Given the description of an element on the screen output the (x, y) to click on. 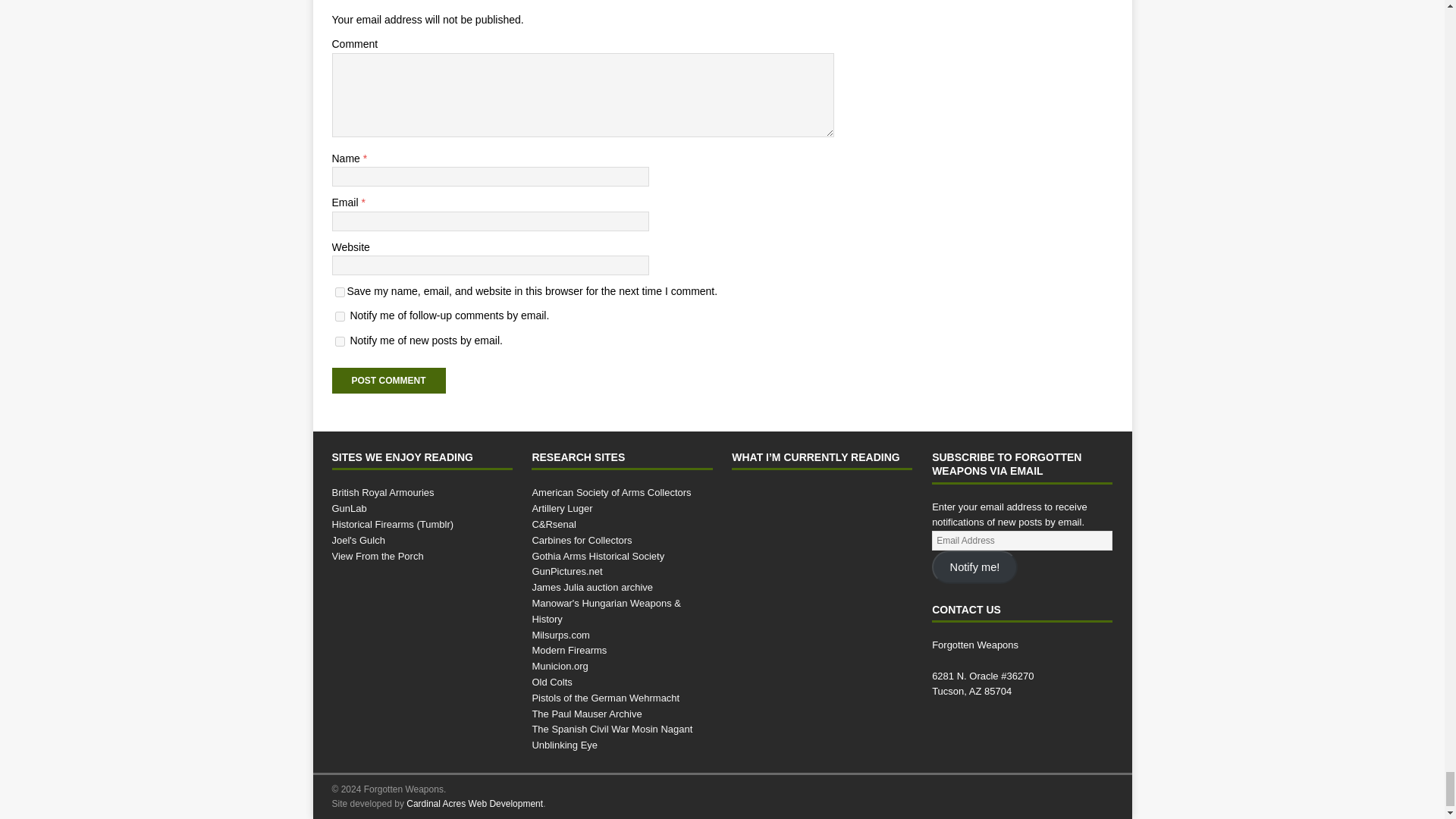
subscribe (339, 341)
Post Comment (388, 380)
subscribe (339, 316)
yes (339, 292)
